Given the description of an element on the screen output the (x, y) to click on. 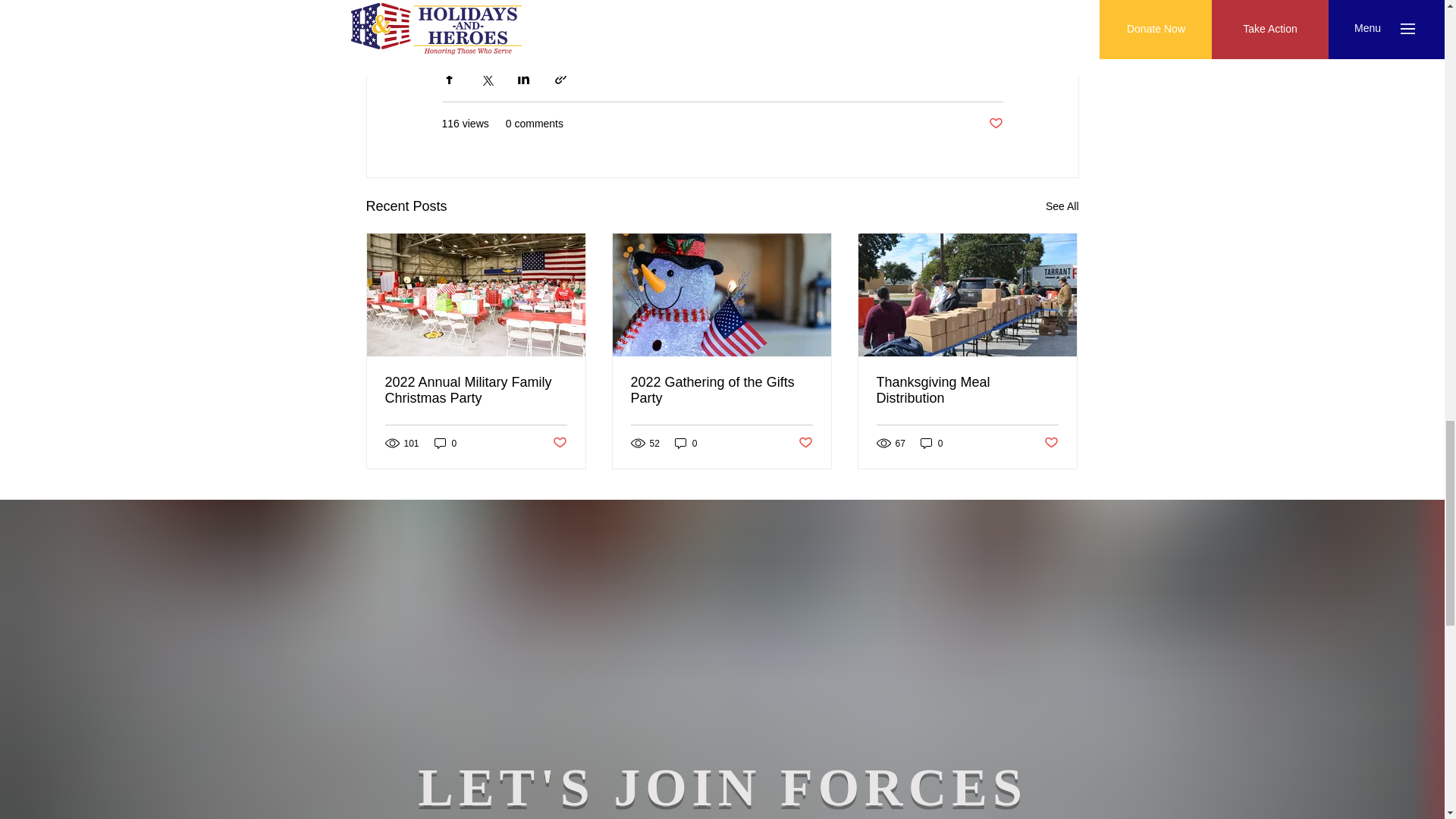
Post not marked as liked (1050, 442)
See All (1061, 206)
Post not marked as liked (558, 442)
Thanksgiving Meal Distribution (967, 390)
2022 Gathering of the Gifts Party (721, 390)
Post not marked as liked (804, 442)
0 (931, 442)
Post not marked as liked (995, 123)
2022 Annual Military Family Christmas Party (476, 390)
0 (445, 442)
